Given the description of an element on the screen output the (x, y) to click on. 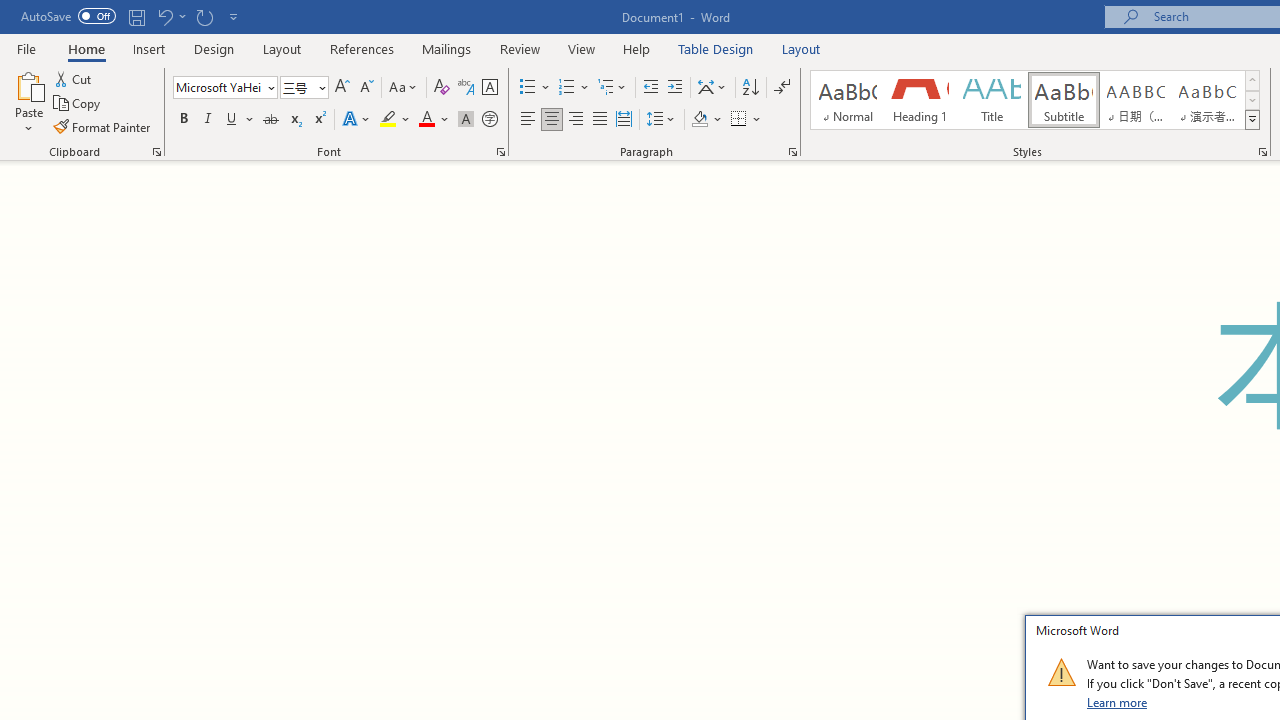
Heading 1 (920, 100)
Center (552, 119)
Shading RGB(0, 0, 0) (699, 119)
Show/Hide Editing Marks (781, 87)
Font Color (434, 119)
Row up (1252, 79)
Styles... (1262, 151)
Styles (1252, 120)
Row Down (1252, 100)
Subtitle (1063, 100)
